Given the description of an element on the screen output the (x, y) to click on. 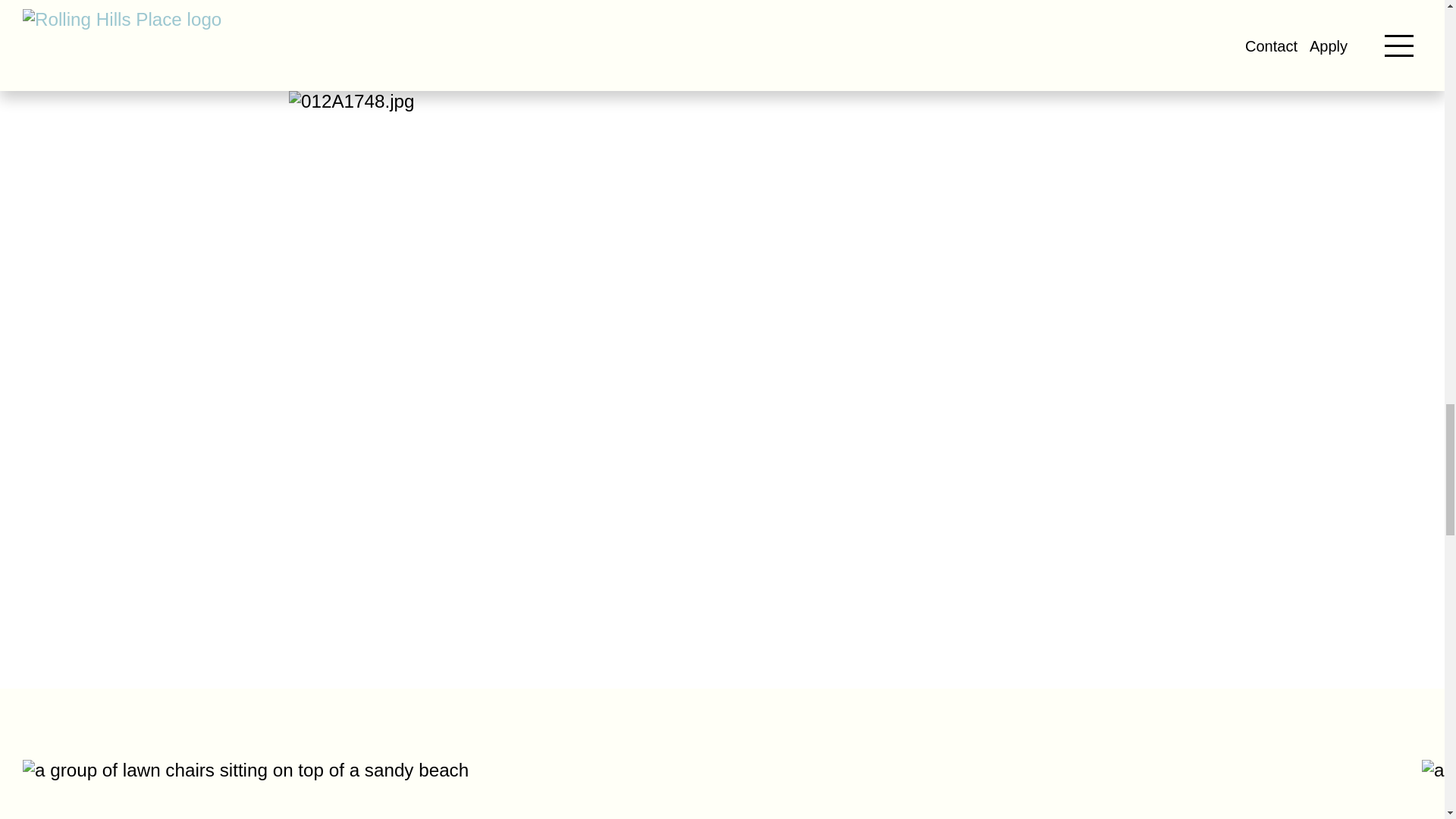
COMMUNITY AMENITIES (397, 40)
AVALON (614, 40)
CANYON (1046, 40)
BECKET (829, 40)
